Given the description of an element on the screen output the (x, y) to click on. 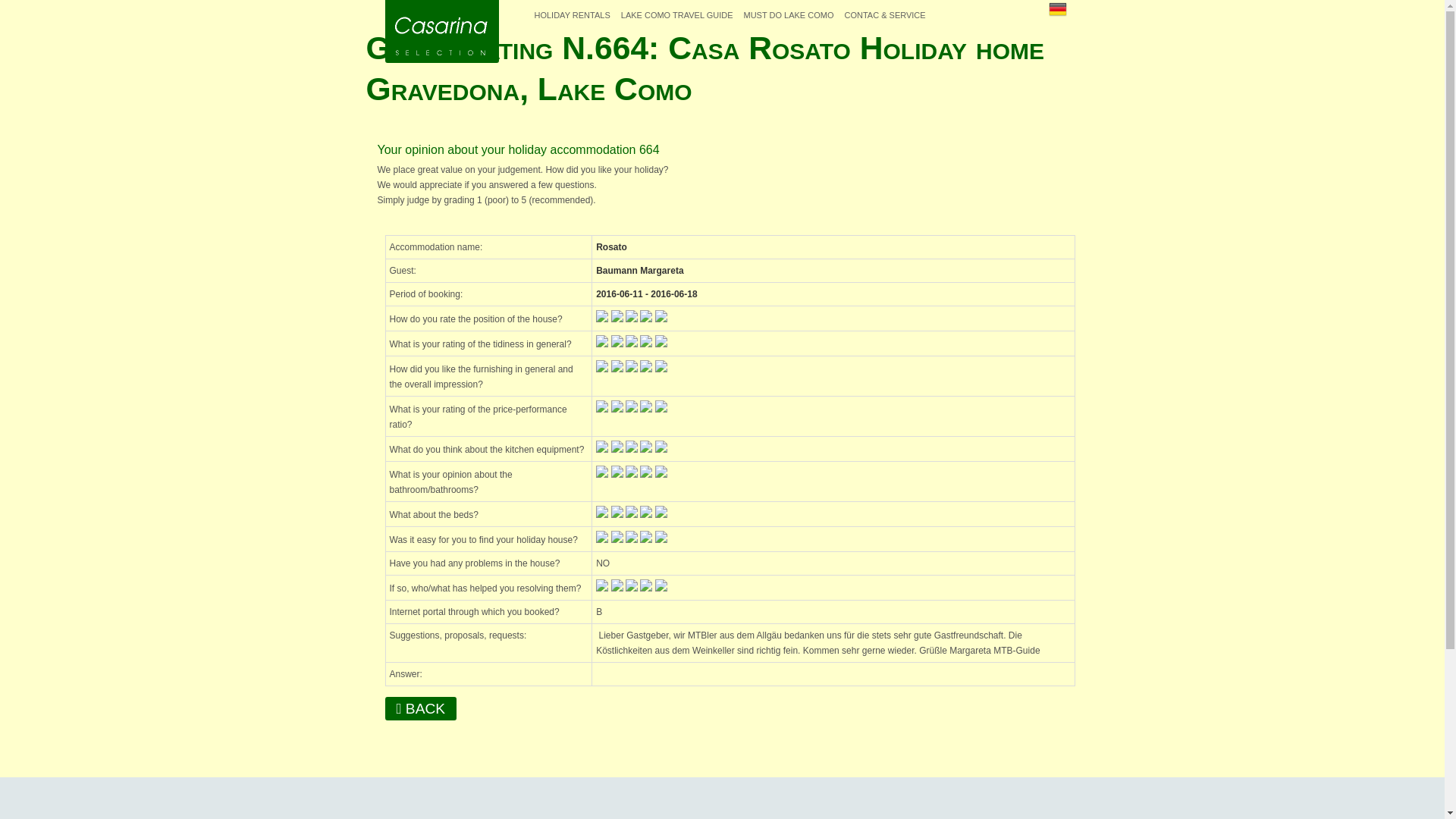
Deutsch (1056, 9)
HOLIDAY RENTALS (572, 15)
MUST DO LAKE COMO (789, 15)
BACK (421, 708)
LAKE COMO TRAVEL GUIDE (676, 15)
